Given the description of an element on the screen output the (x, y) to click on. 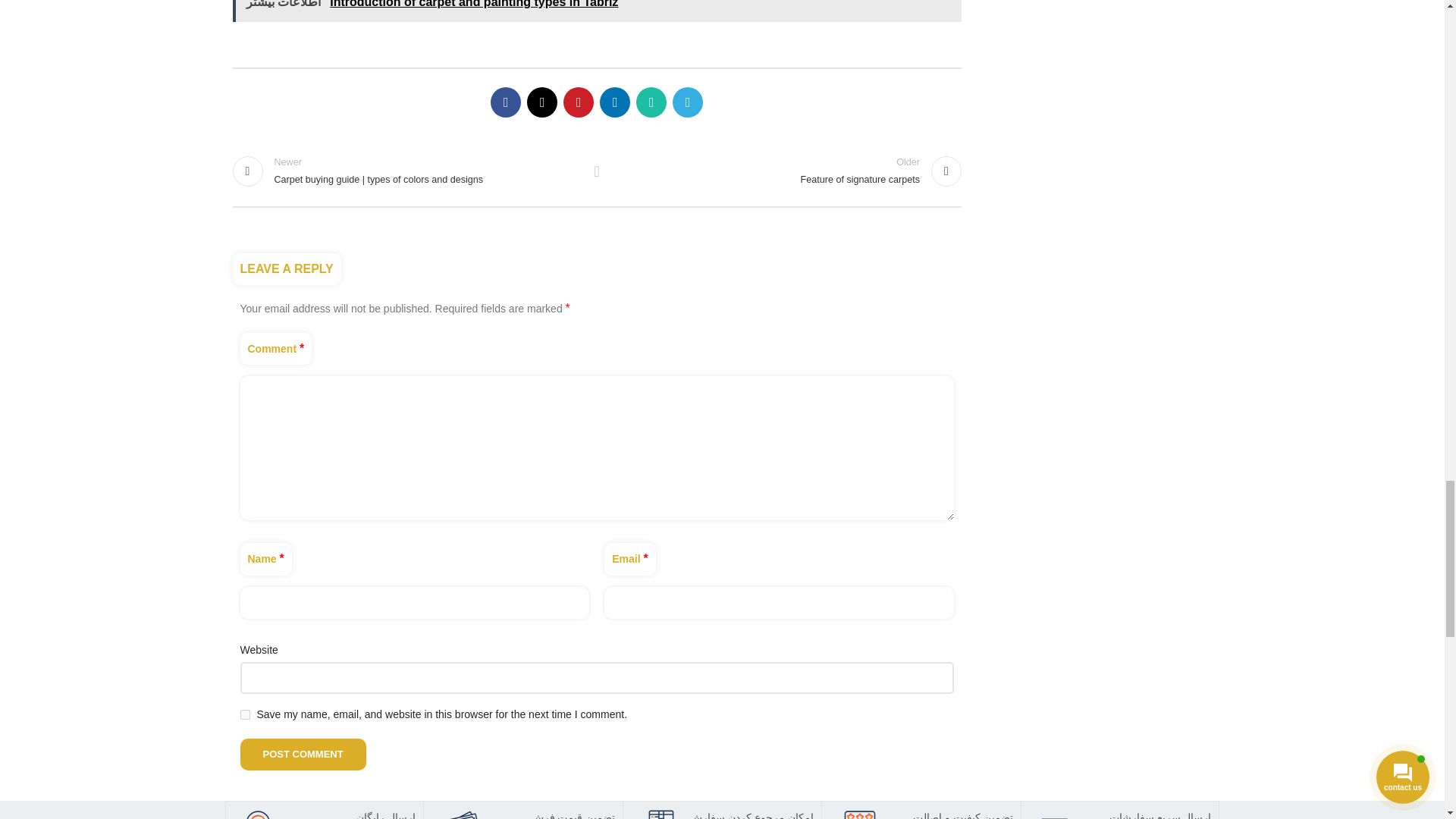
Post Comment (302, 754)
yes (244, 714)
